Given the description of an element on the screen output the (x, y) to click on. 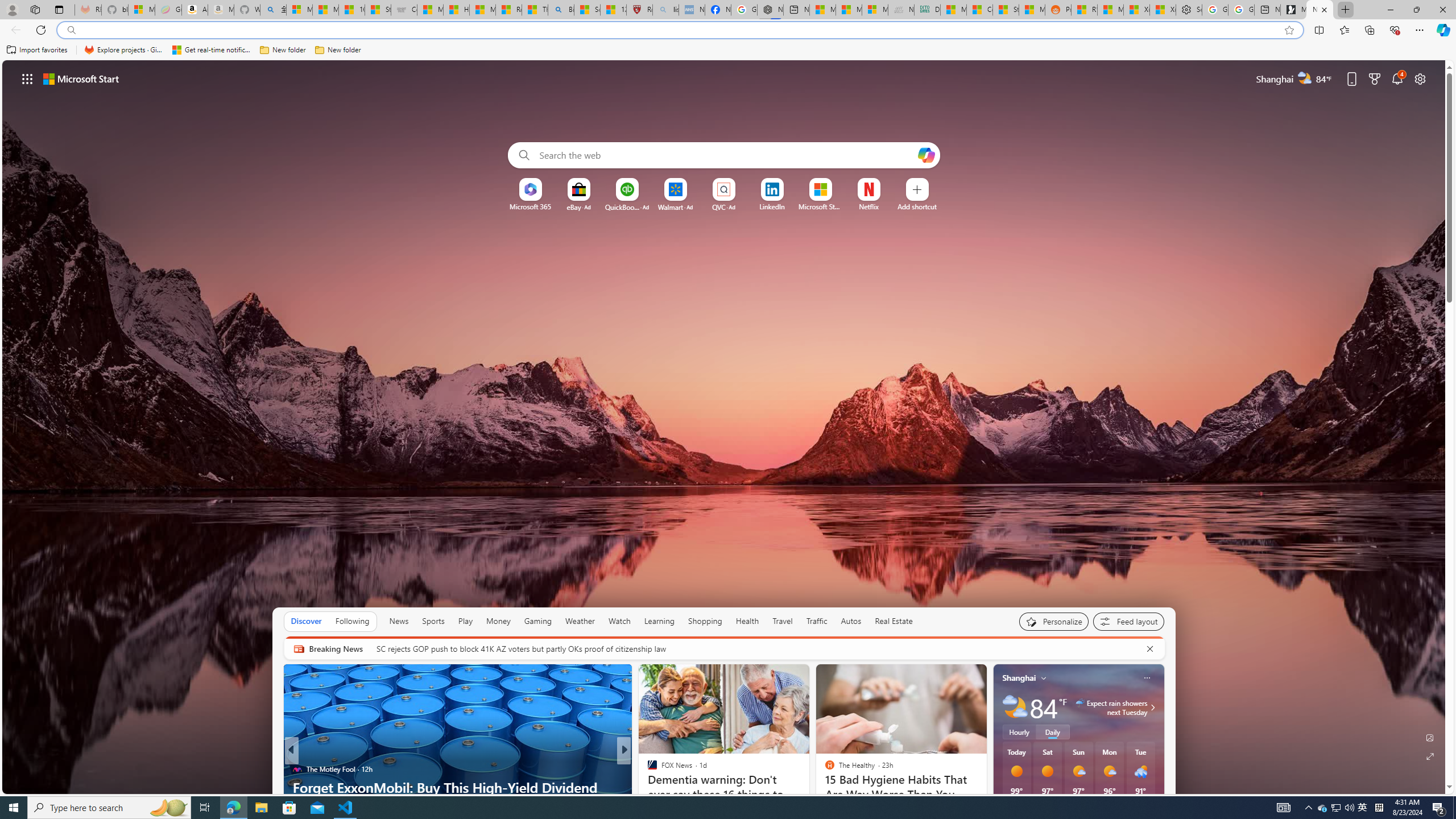
Morning Carpool (647, 768)
New folder (337, 49)
TODAY (647, 768)
